Given the description of an element on the screen output the (x, y) to click on. 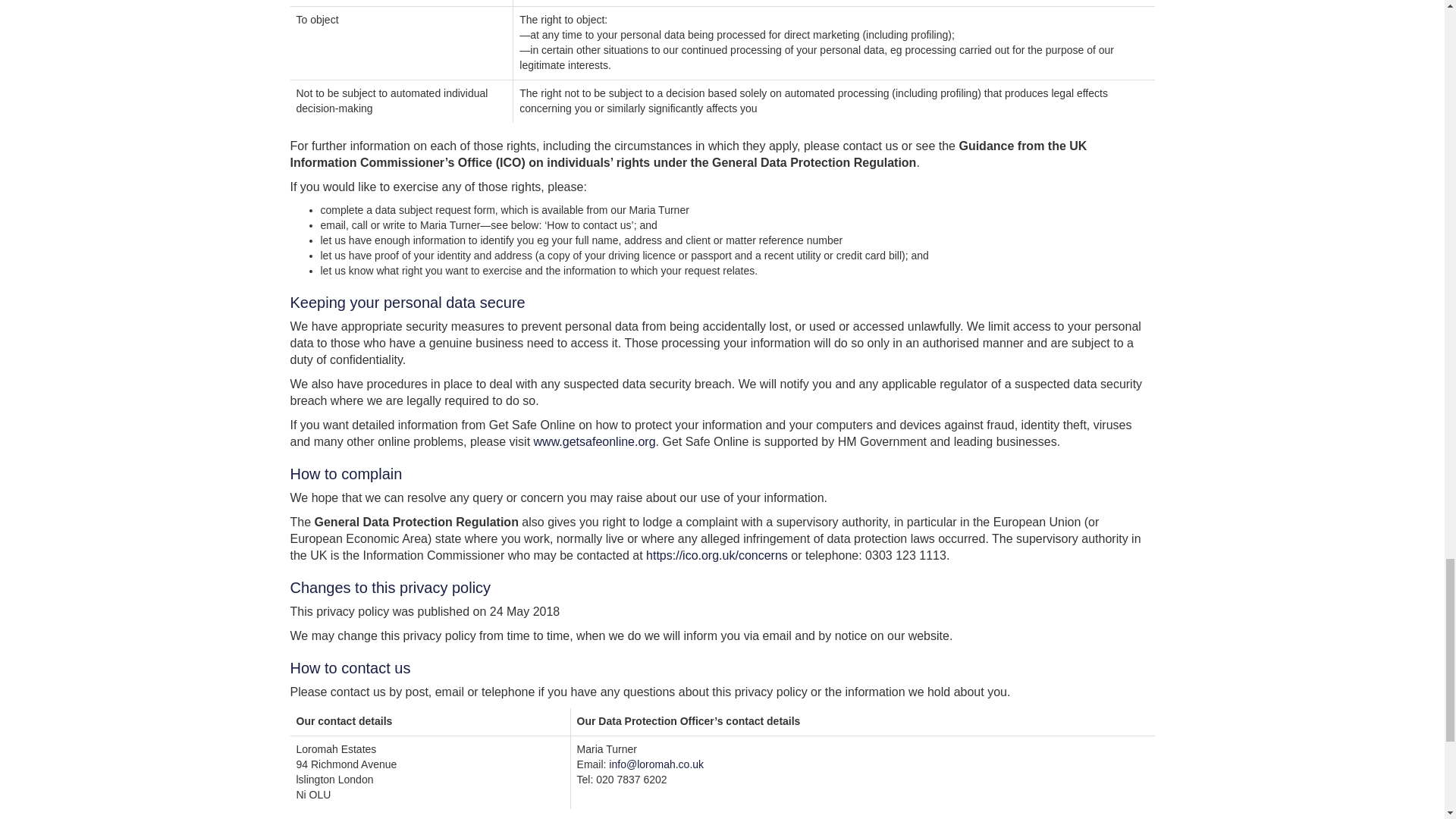
www.getsafeonline.org (595, 440)
